Given the description of an element on the screen output the (x, y) to click on. 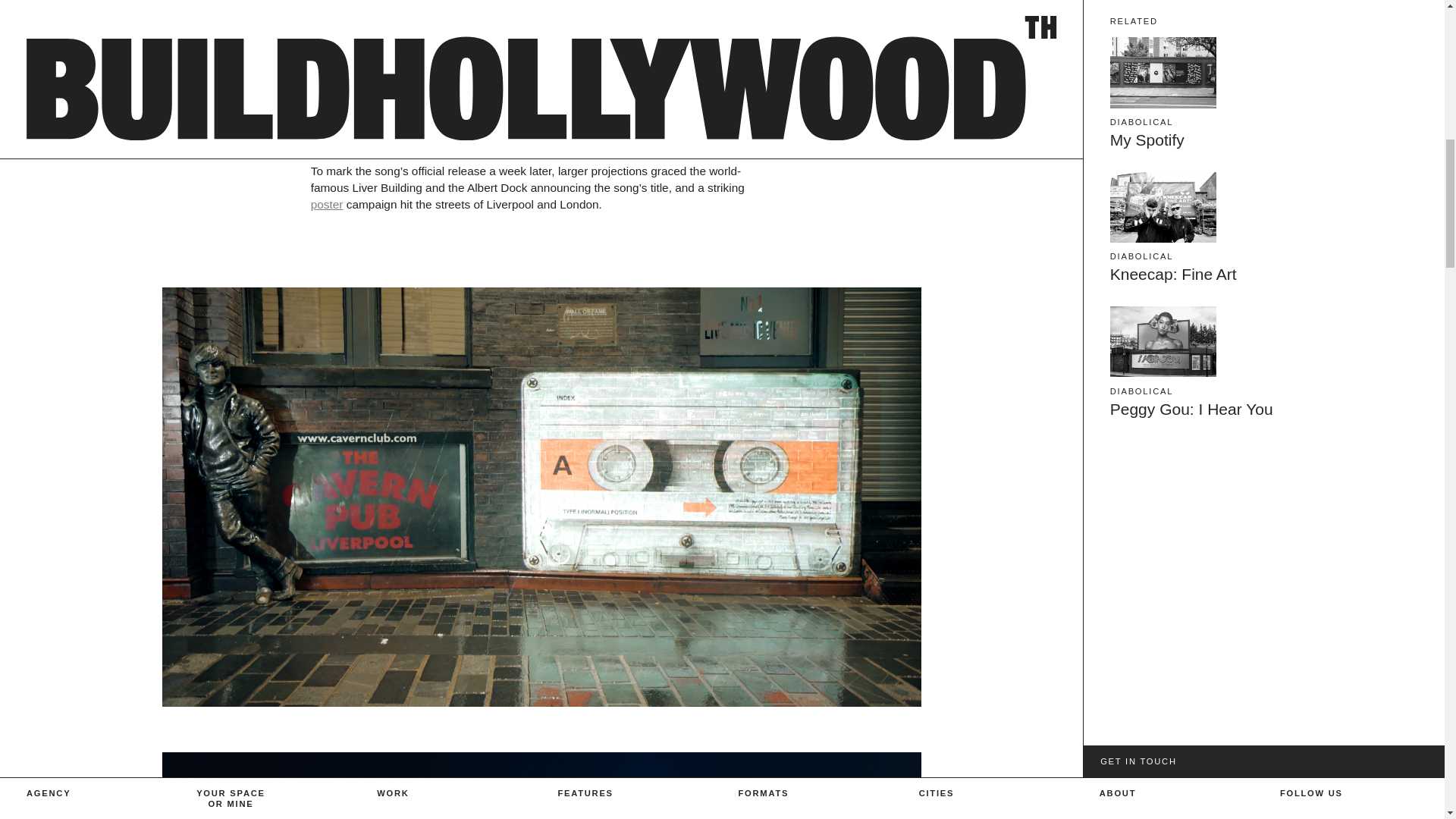
Murals (762, 76)
Glasgow (949, 179)
London (945, 230)
Installations (780, 102)
Brands (402, 63)
Space branding (794, 203)
Jobs (1115, 76)
Edinburgh (954, 153)
Dundee (946, 127)
Culture (402, 88)
Manchester (960, 254)
International (962, 306)
Music (398, 36)
Jack Arts (58, 76)
Festivals (770, 127)
